Given the description of an element on the screen output the (x, y) to click on. 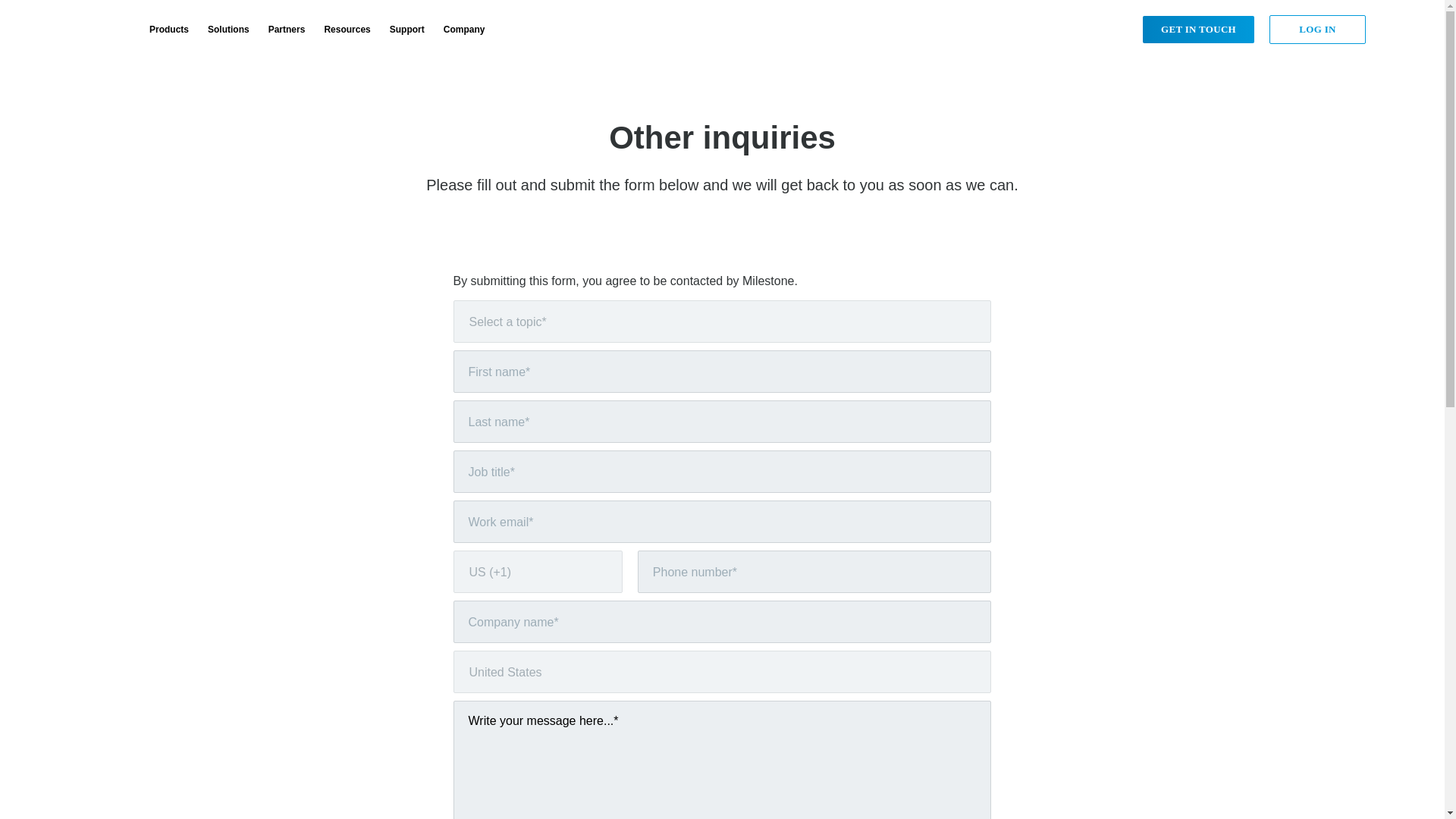
flat-icon (972, 671)
flat-icon (604, 571)
flat-icon (972, 321)
